Given the description of an element on the screen output the (x, y) to click on. 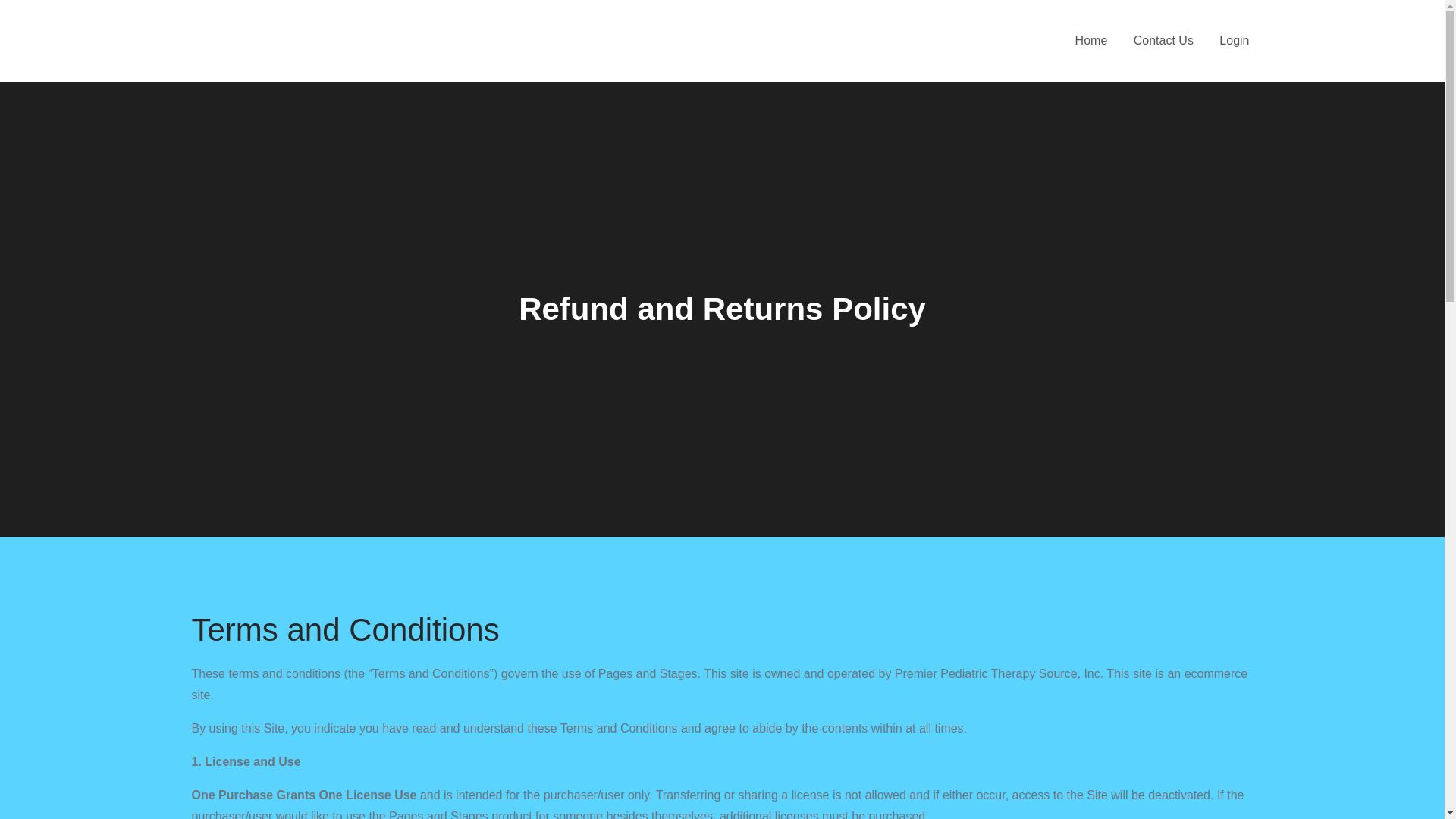
Home (1091, 40)
Contact Us (1163, 40)
Login (1234, 40)
PPTS Education (308, 41)
